Given the description of an element on the screen output the (x, y) to click on. 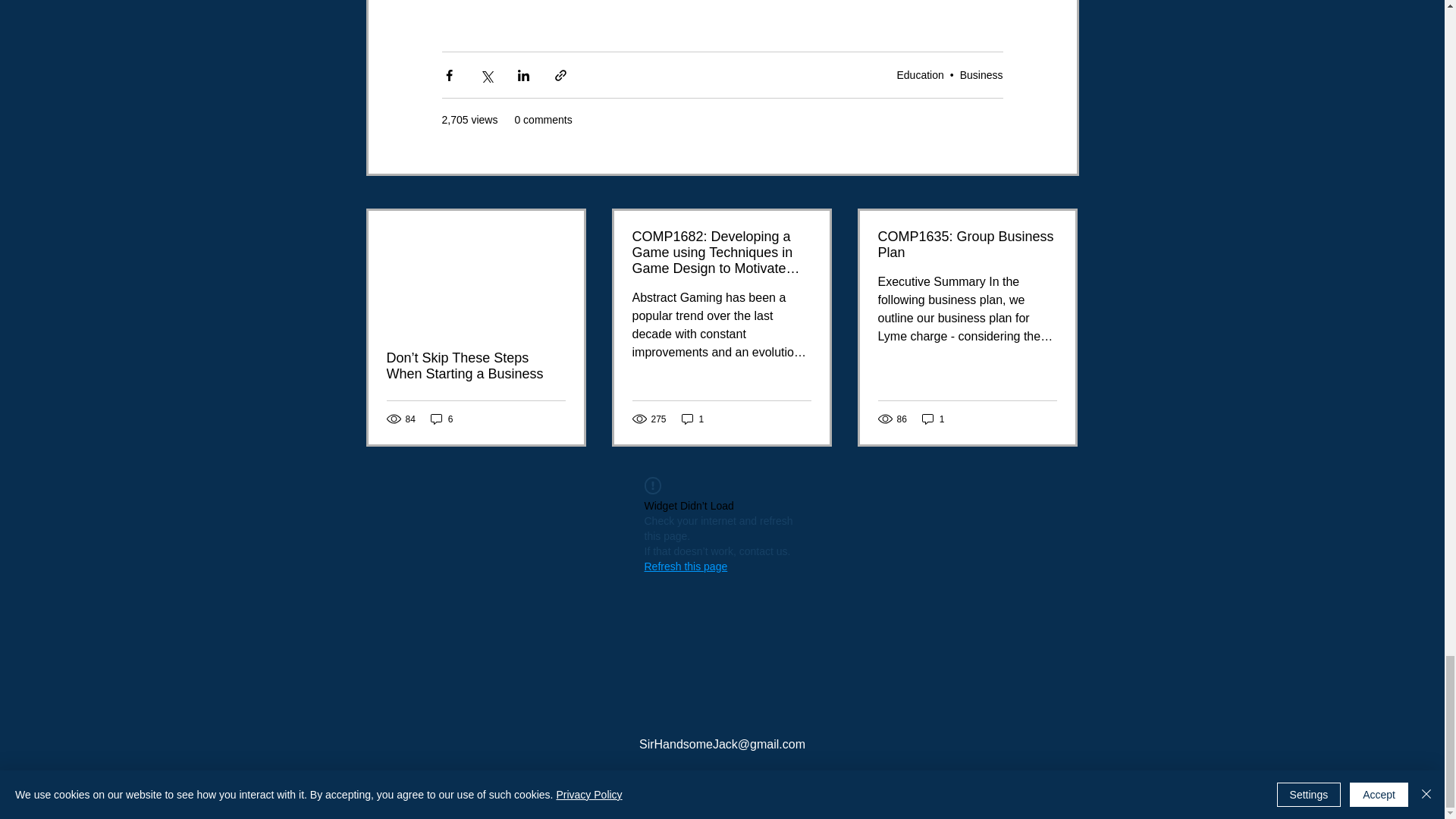
1 (692, 418)
1 (933, 418)
Privacy Policy (721, 776)
Business (981, 73)
6 (441, 418)
Refresh this page (686, 566)
Education (919, 73)
COMP1635: Group Business Plan (967, 245)
